Given the description of an element on the screen output the (x, y) to click on. 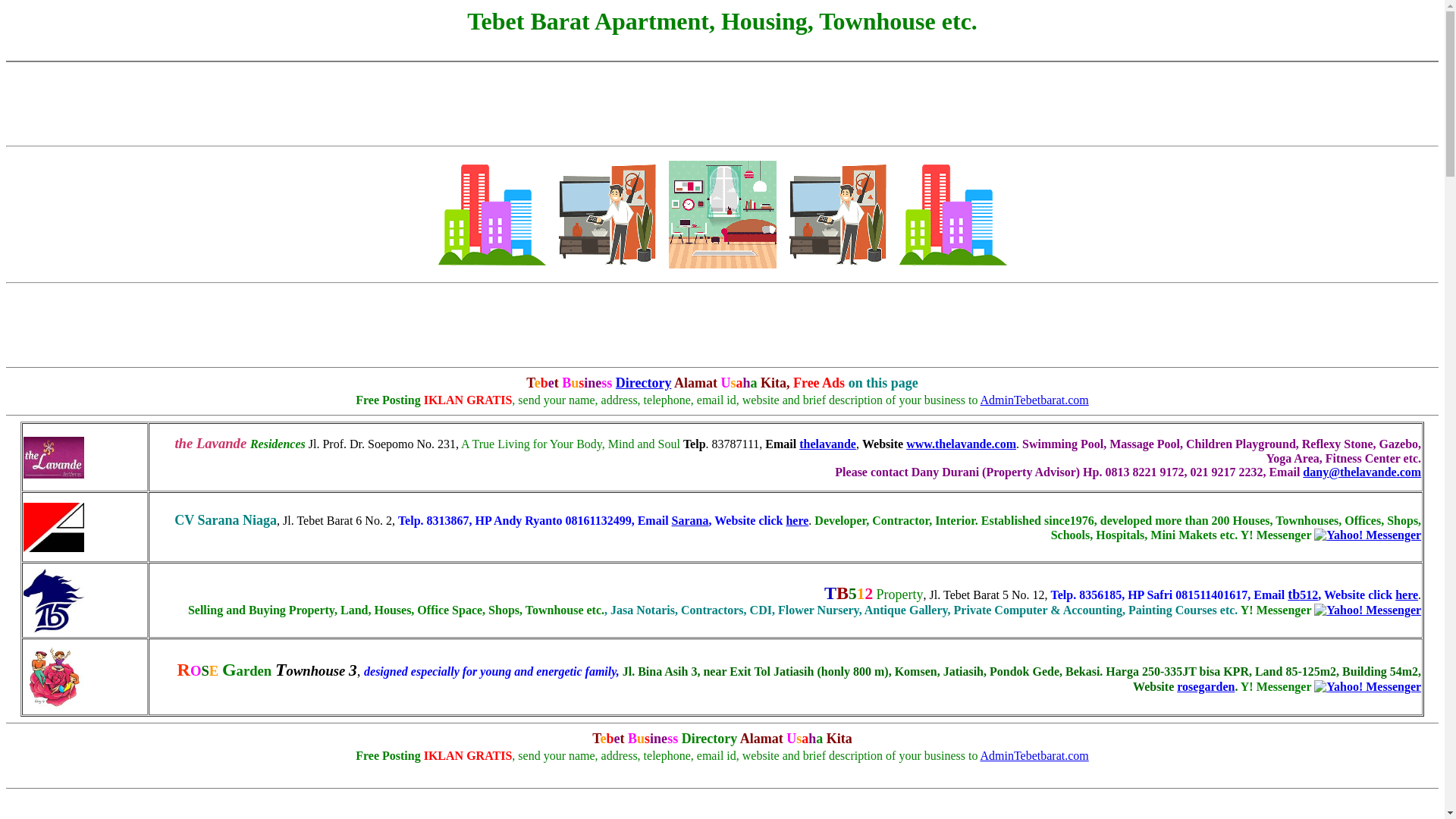
Advertisement (721, 772)
Advertisement (721, 103)
Advertisement (721, 325)
tb512 (1302, 594)
thelavande (827, 443)
AdminTebetbarat.com (1033, 399)
Directory (643, 382)
here (797, 520)
AdminTebetbarat.com (1033, 755)
Sarana (690, 520)
here (1406, 594)
Advertisement (721, 45)
www.thelavande.com (960, 443)
Advertisement (721, 807)
rosegarden (1205, 686)
